Given the description of an element on the screen output the (x, y) to click on. 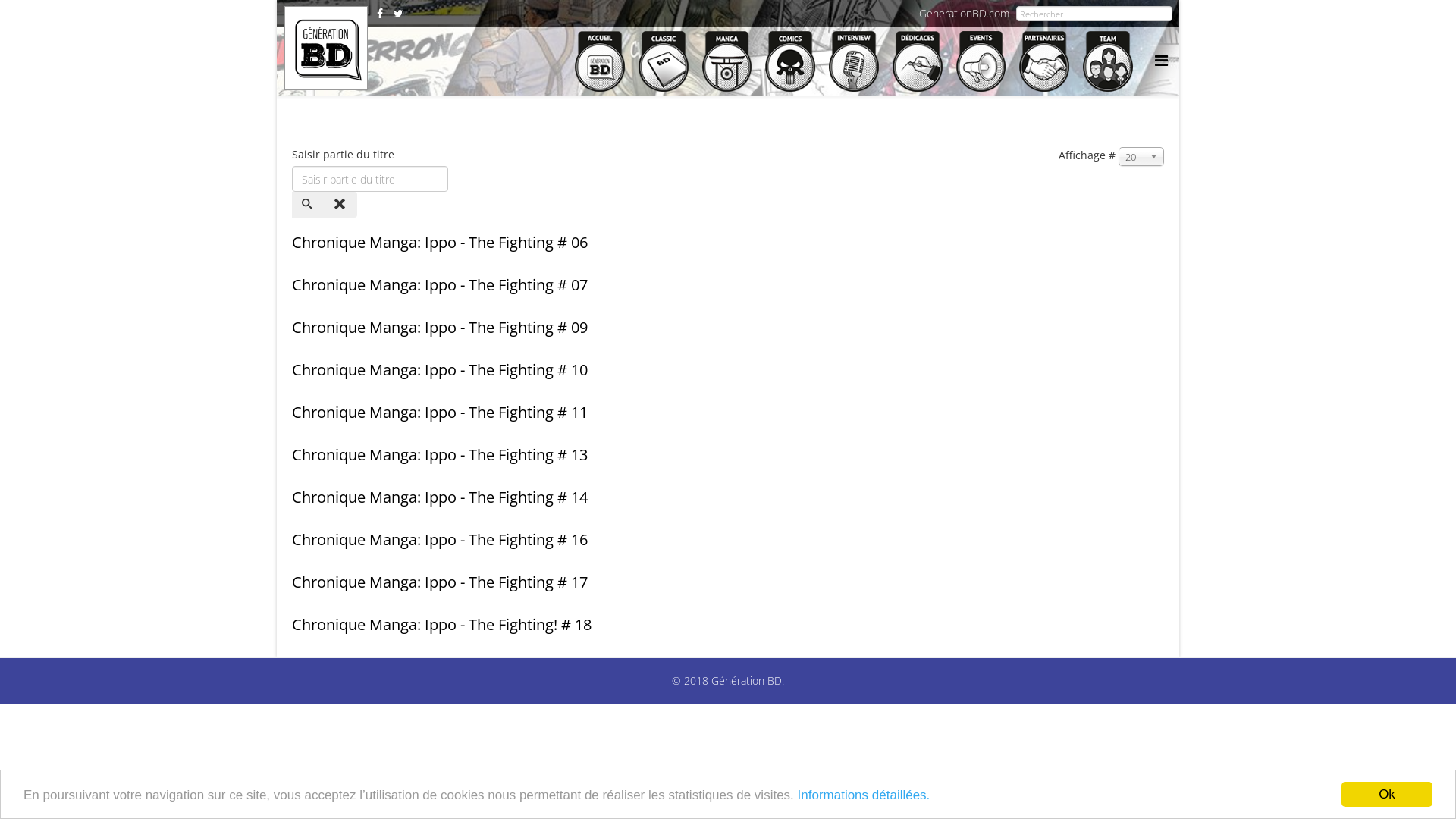
Rechercher Element type: hover (308, 204)
Chronique Manga: Ippo - The Fighting # 16 Element type: text (439, 539)
Chronique Manga: Ippo - The Fighting # 06 Element type: text (439, 242)
GenerationBD.com Element type: text (964, 13)
Chronique Manga: Ippo - The Fighting # 17 Element type: text (439, 581)
Chronique Manga: Ippo - The Fighting # 09 Element type: text (439, 326)
Chronique Manga: Ippo - The Fighting # 14 Element type: text (439, 496)
Accueil Element type: hover (599, 59)
Effacer Element type: hover (340, 204)
Chronique Manga: Ippo - The Fighting # 13 Element type: text (439, 454)
Chronique Manga: Ippo - The Fighting! # 18 Element type: text (441, 624)
20 Element type: text (1141, 156)
Chronique Manga: Ippo - The Fighting # 07 Element type: text (439, 284)
Ok Element type: text (1386, 793)
Chronique Manga: Ippo - The Fighting # 11 Element type: text (439, 411)
Chronique Manga: Ippo - The Fighting # 10 Element type: text (439, 369)
